Given the description of an element on the screen output the (x, y) to click on. 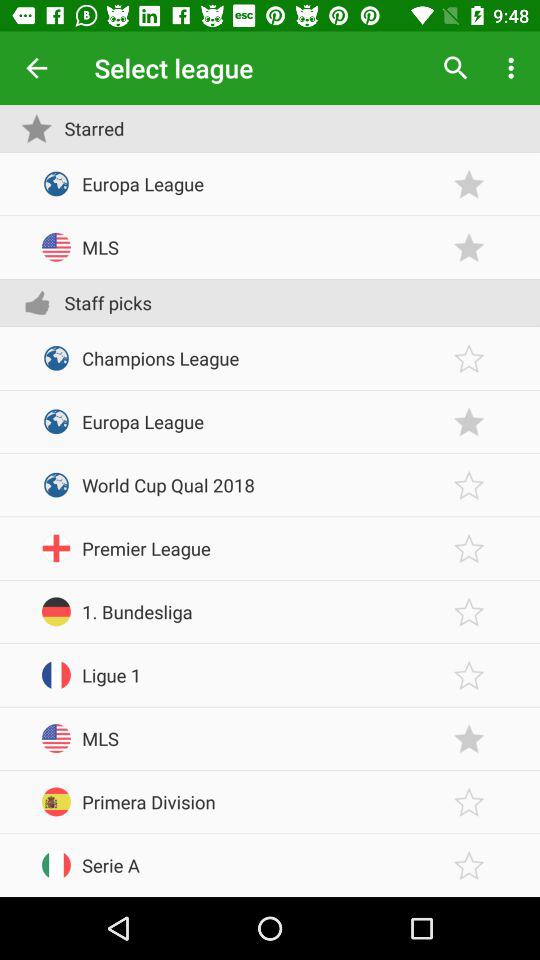
favorite (469, 358)
